Given the description of an element on the screen output the (x, y) to click on. 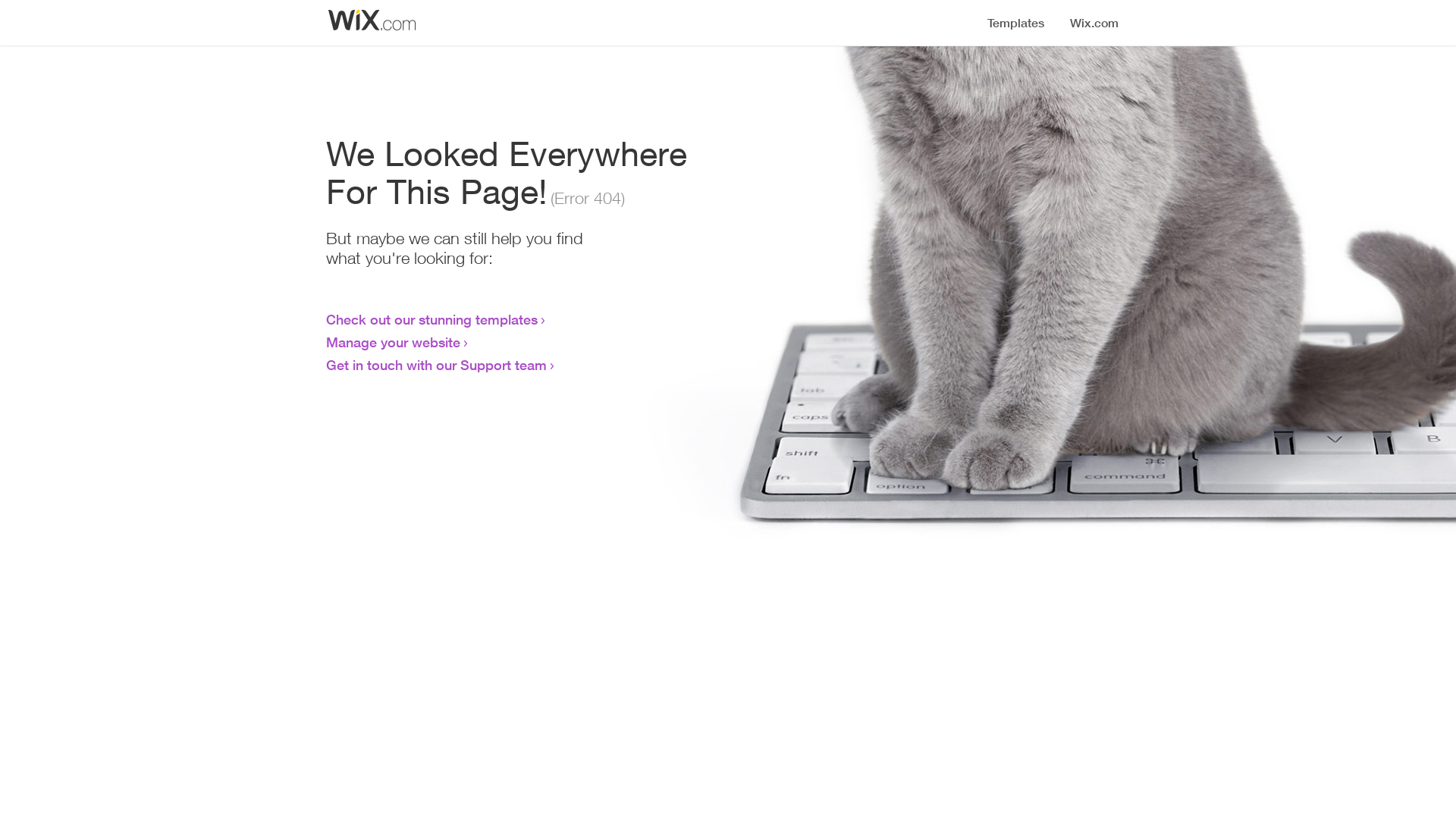
Manage your website Element type: text (393, 341)
Get in touch with our Support team Element type: text (436, 364)
Check out our stunning templates Element type: text (431, 318)
